Given the description of an element on the screen output the (x, y) to click on. 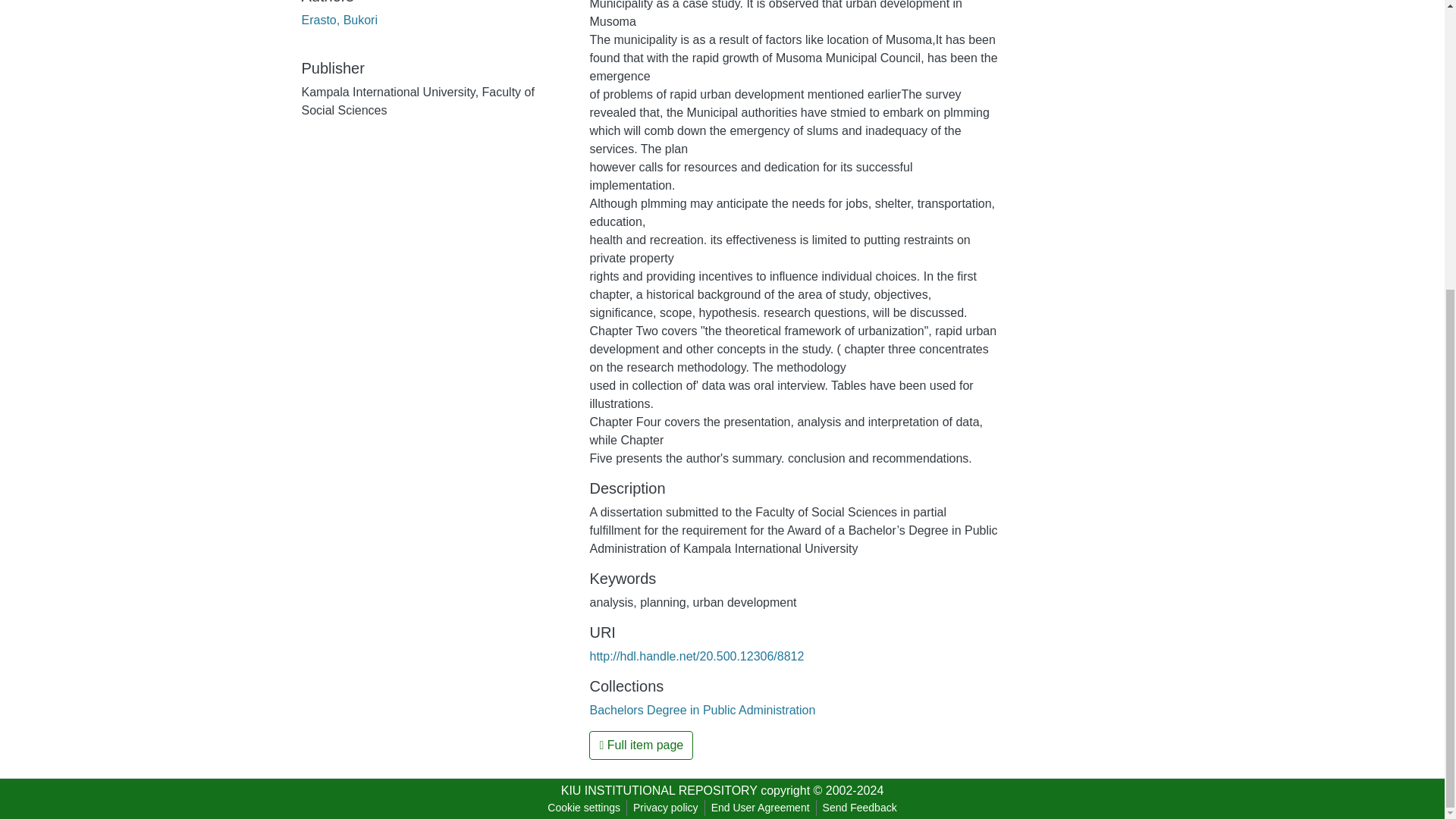
Erasto, Bukori (339, 19)
Privacy policy (665, 807)
KIU INSTITUTIONAL REPOSITORY (658, 789)
Send Feedback (859, 807)
Full item page (641, 745)
Bachelors Degree in Public Administration (702, 709)
End User Agreement (759, 807)
Cookie settings (583, 807)
